Given the description of an element on the screen output the (x, y) to click on. 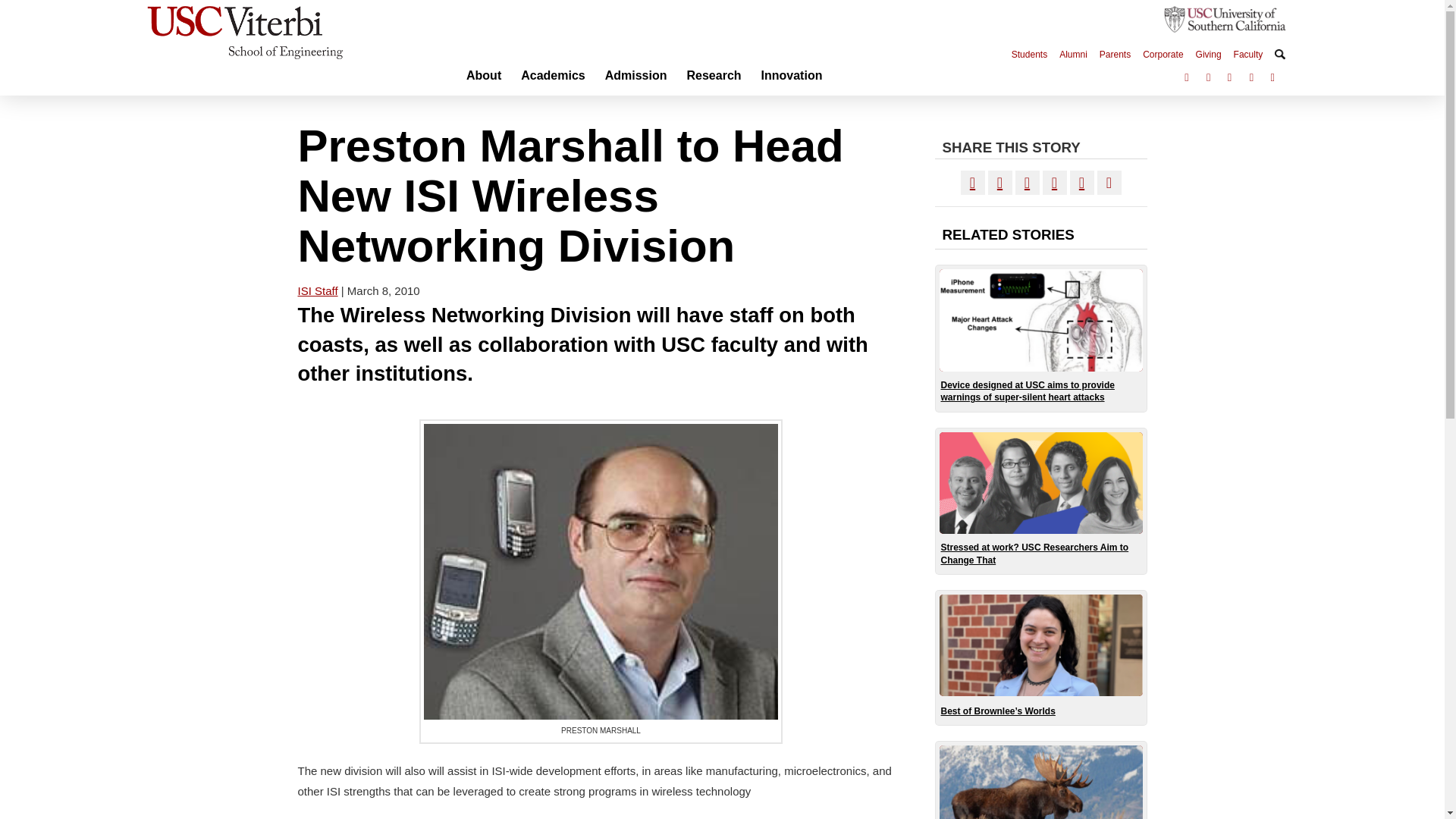
Share on X (999, 182)
Students (1029, 51)
Giving (1208, 51)
Search (1279, 54)
Share on Facebook (971, 182)
Share on Pinterest (1053, 182)
Stressed at work? USC Researchers Aim to Change That (1040, 500)
Share on Reddit (1080, 182)
ISI Staff (317, 290)
Alumni (1072, 51)
Share via Email (1108, 182)
Stressed at work? USC Researchers Aim to Change That (1040, 500)
